Given the description of an element on the screen output the (x, y) to click on. 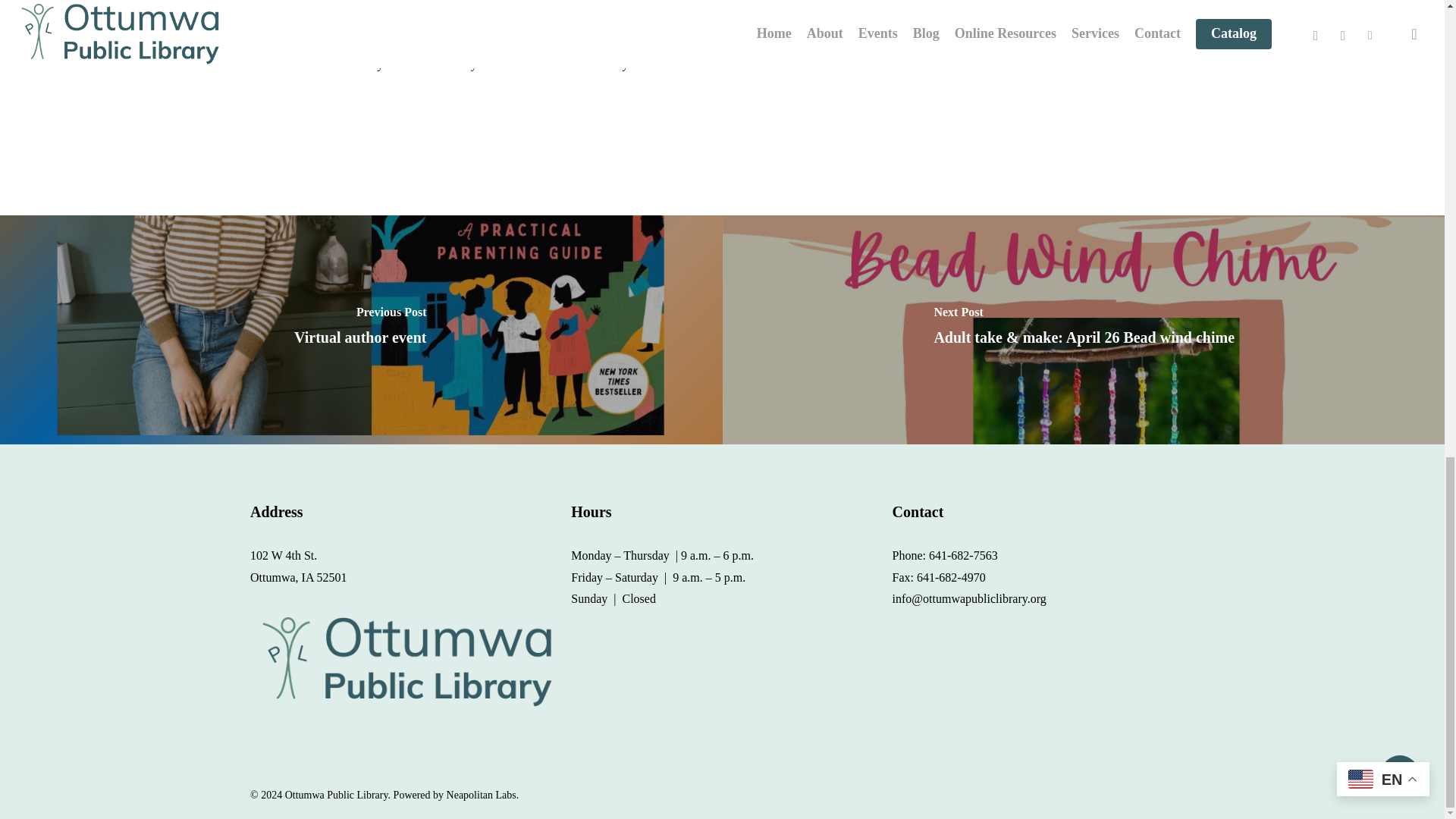
Powered by Neapolitan Labs. (456, 794)
